Given the description of an element on the screen output the (x, y) to click on. 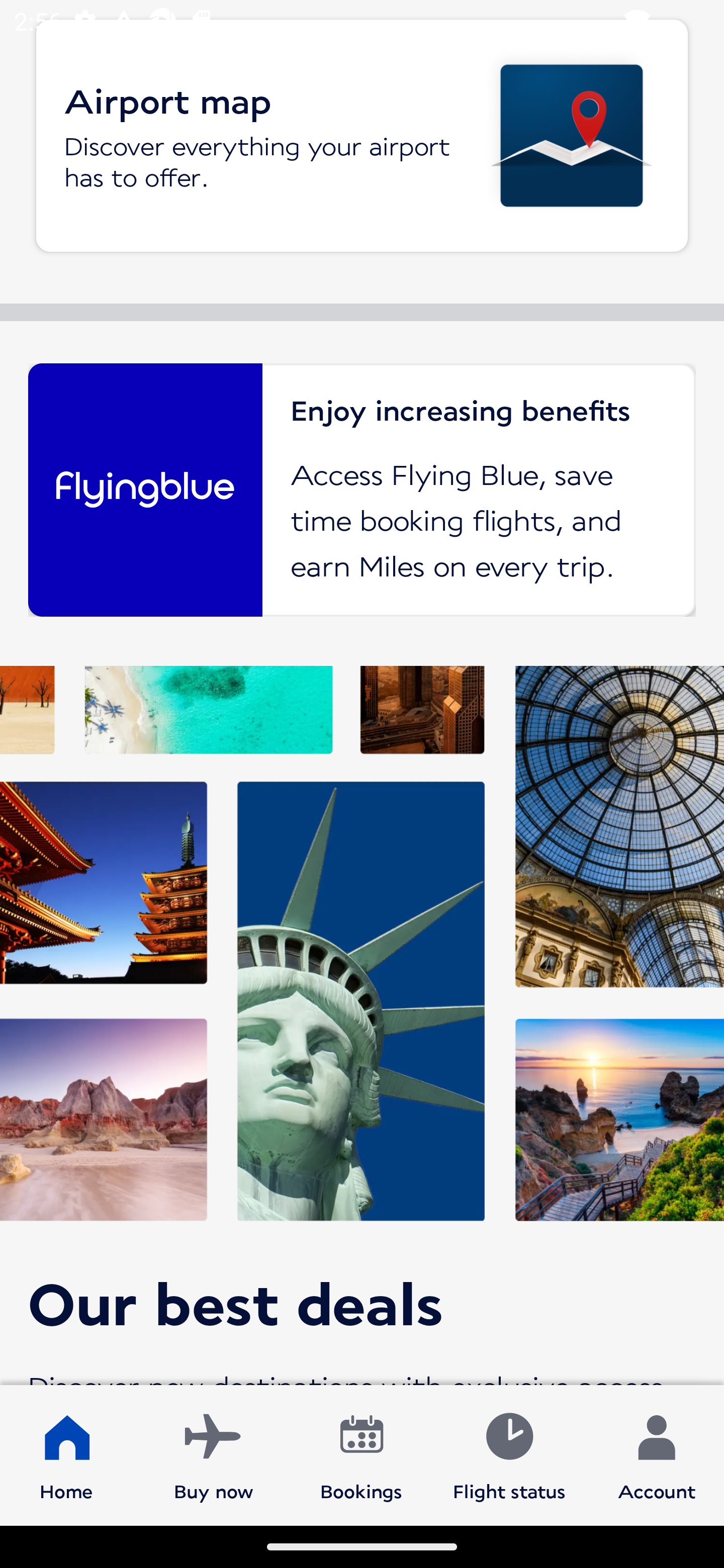
Buy now (213, 1454)
Bookings (361, 1454)
Flight status (509, 1454)
Account (657, 1454)
